Given the description of an element on the screen output the (x, y) to click on. 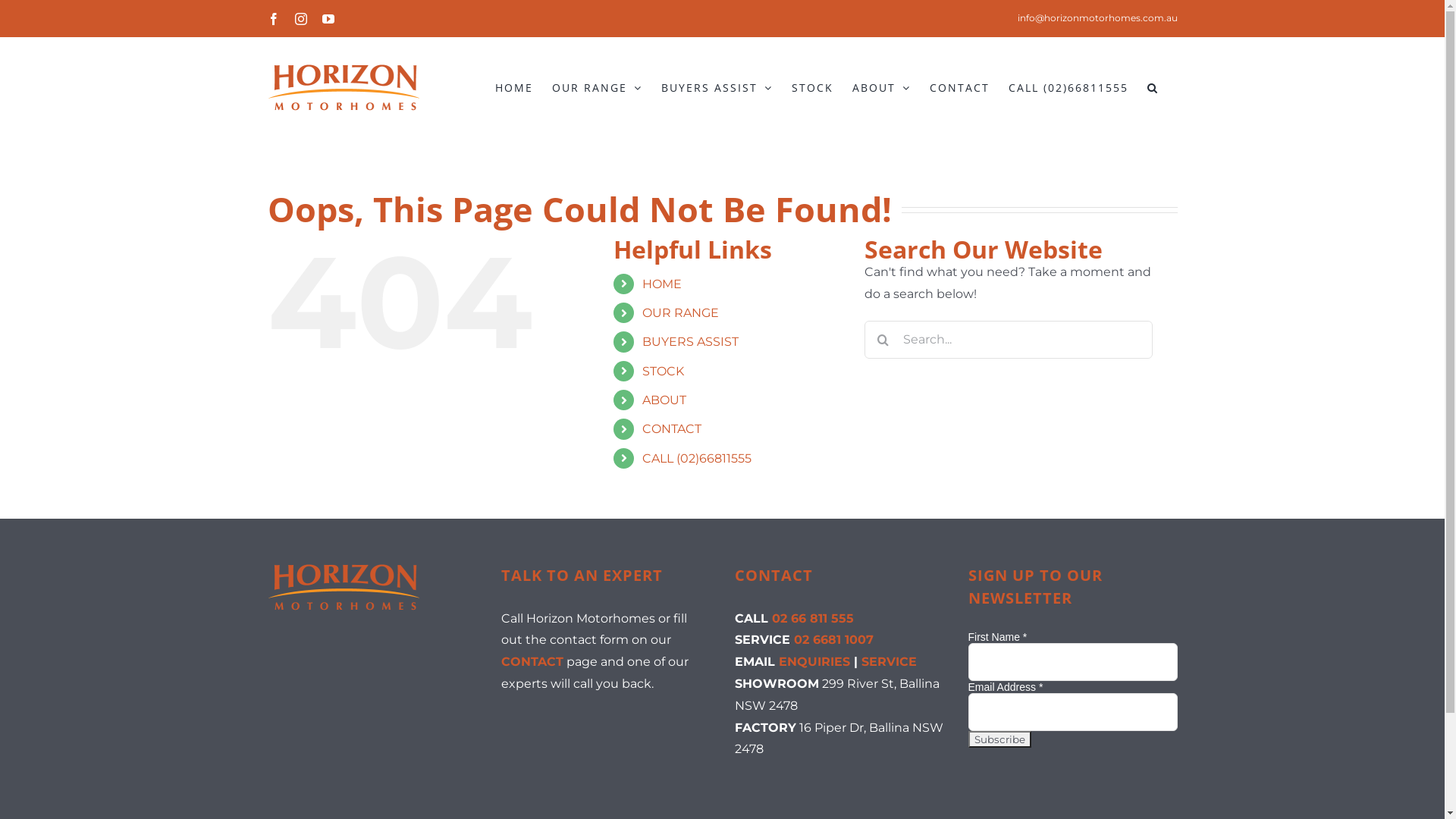
Search Element type: hover (1151, 87)
Facebook Element type: text (272, 18)
STOCK Element type: text (663, 371)
info@horizonmotorhomes.com.au Element type: text (1097, 17)
YouTube Element type: text (327, 18)
ENQUIRIES Element type: text (813, 661)
CONTACT Element type: text (531, 661)
Subscribe Element type: text (998, 739)
CALL (02)66811555 Element type: text (1068, 87)
02 6681 1007 Element type: text (832, 639)
CONTACT Element type: text (959, 87)
HOME Element type: text (513, 87)
BUYERS ASSIST Element type: text (716, 87)
CALL (02)66811555 Element type: text (696, 458)
ABOUT Element type: text (664, 399)
BUYERS ASSIST Element type: text (690, 341)
STOCK Element type: text (812, 87)
Instagram Element type: text (300, 18)
CONTACT Element type: text (671, 428)
02 66 811 555 Element type: text (812, 618)
SERVICE Element type: text (888, 661)
ABOUT Element type: text (881, 87)
OUR RANGE Element type: text (680, 312)
HOME Element type: text (661, 283)
OUR RANGE Element type: text (597, 87)
